Given the description of an element on the screen output the (x, y) to click on. 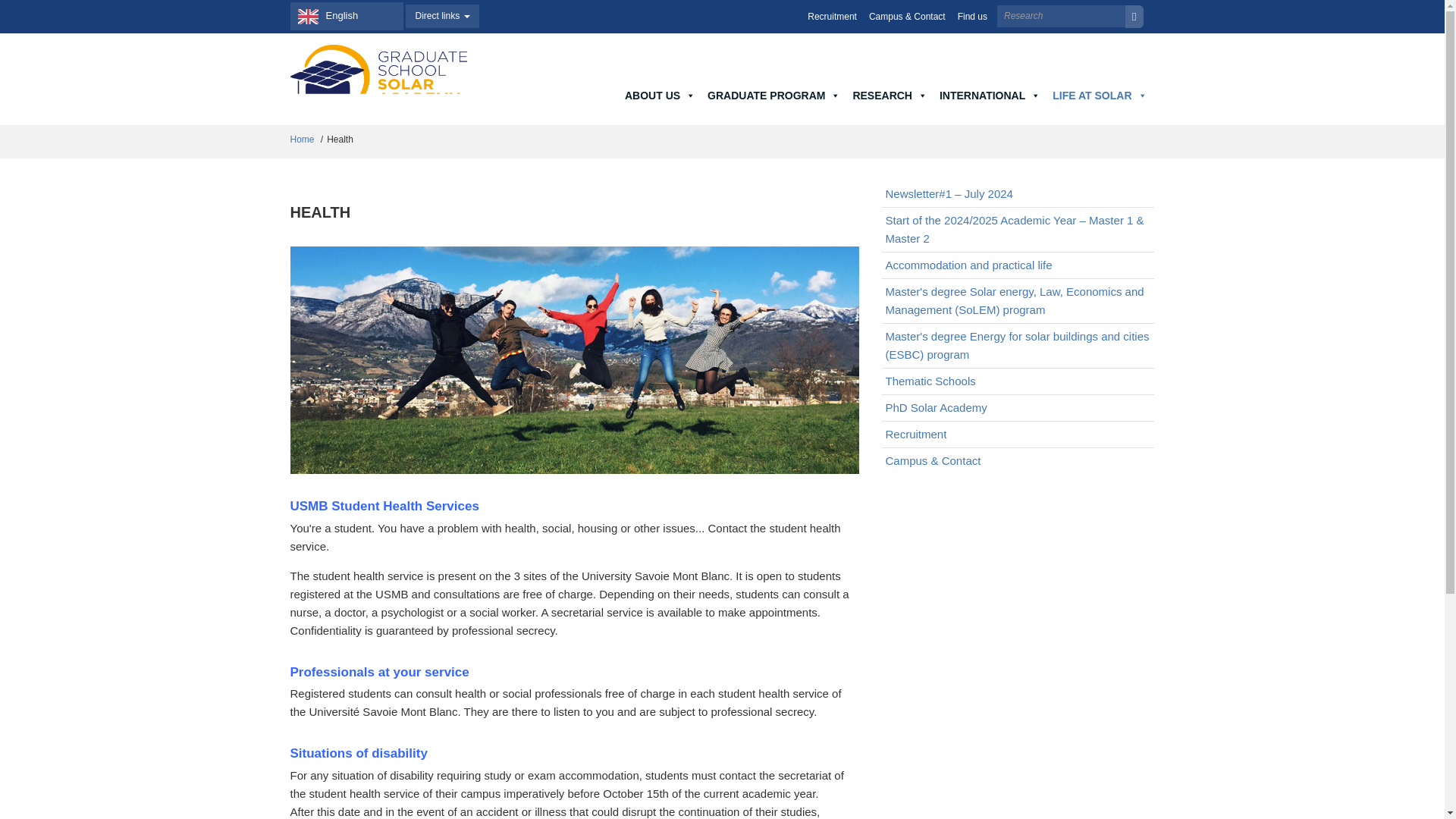
Find us (972, 16)
Direct links (442, 15)
GRADUATE PROGRAM (773, 95)
Recruitment (832, 16)
ABOUT US (659, 95)
